Given the description of an element on the screen output the (x, y) to click on. 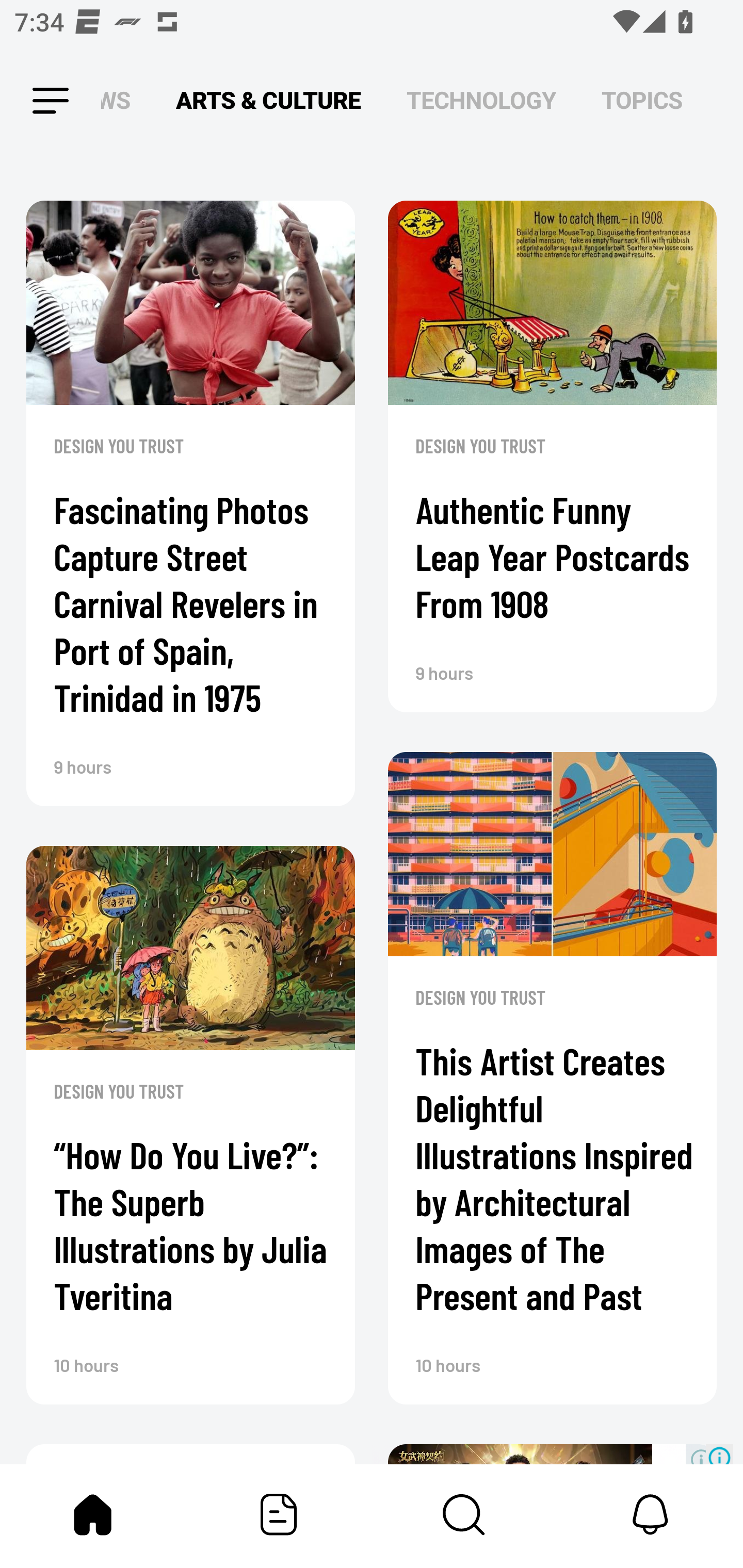
Leading Icon (32, 101)
NEWS (121, 100)
TECHNOLOGY (481, 100)
TOPICS (641, 100)
Featured (278, 1514)
Content Store (464, 1514)
Notifications (650, 1514)
